Given the description of an element on the screen output the (x, y) to click on. 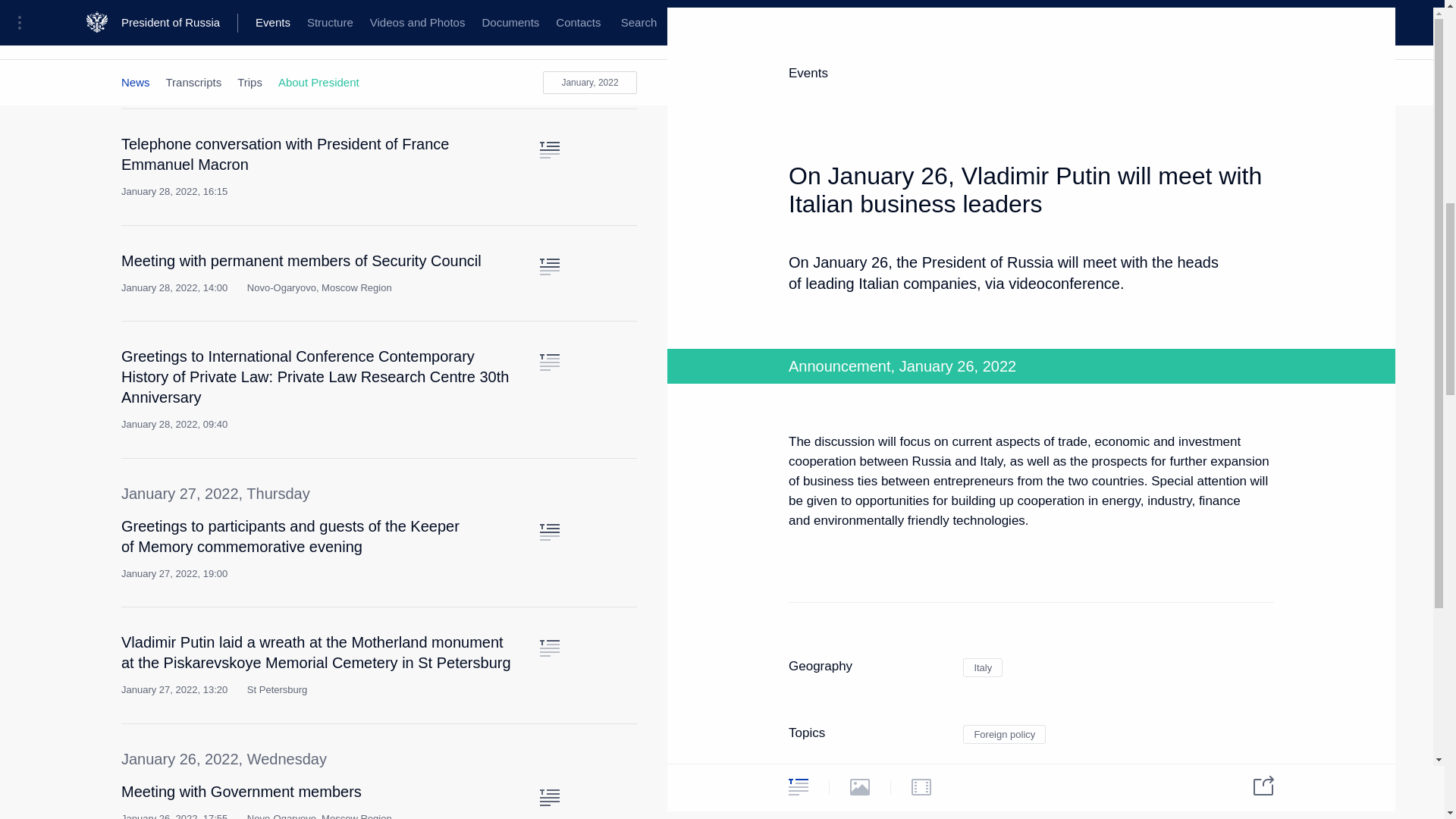
Text of the article (549, 149)
Text of the article (549, 647)
Text of the article (549, 532)
Text of the article (549, 797)
Text of the article (549, 54)
Text of the article (549, 362)
Text of the article (549, 266)
